Given the description of an element on the screen output the (x, y) to click on. 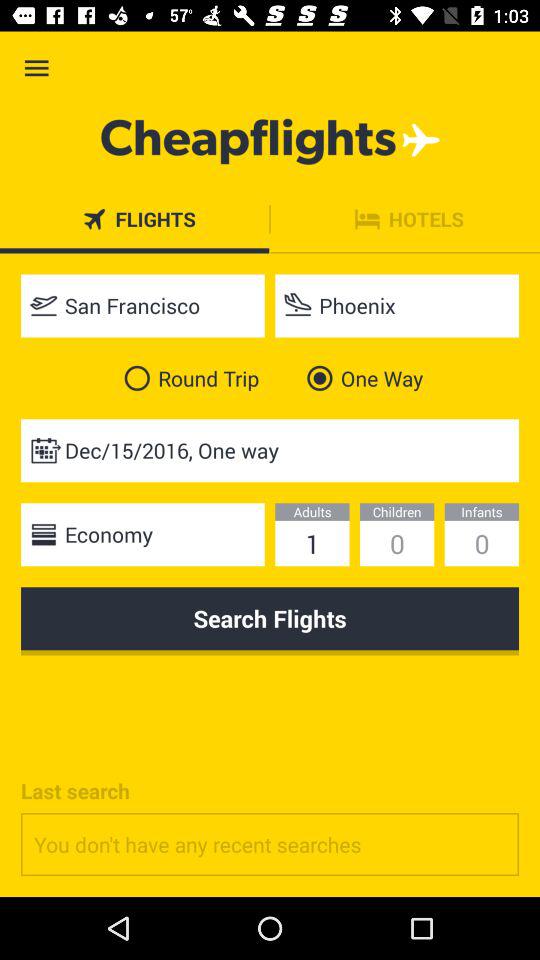
tap the dec 15 2016 (270, 450)
